Given the description of an element on the screen output the (x, y) to click on. 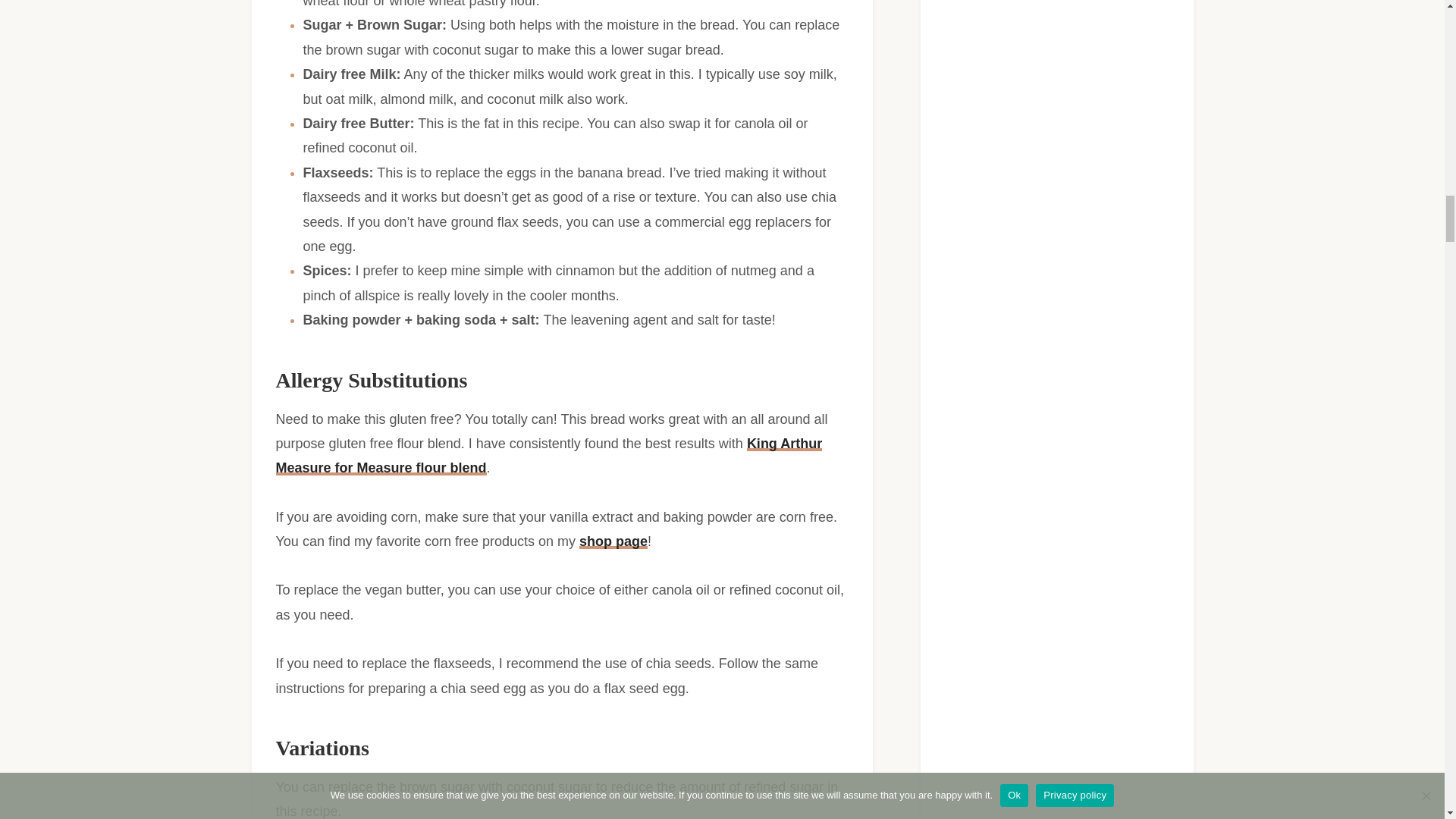
King Arthur Measure for Measure flour blend (549, 455)
shop page (613, 540)
